Given the description of an element on the screen output the (x, y) to click on. 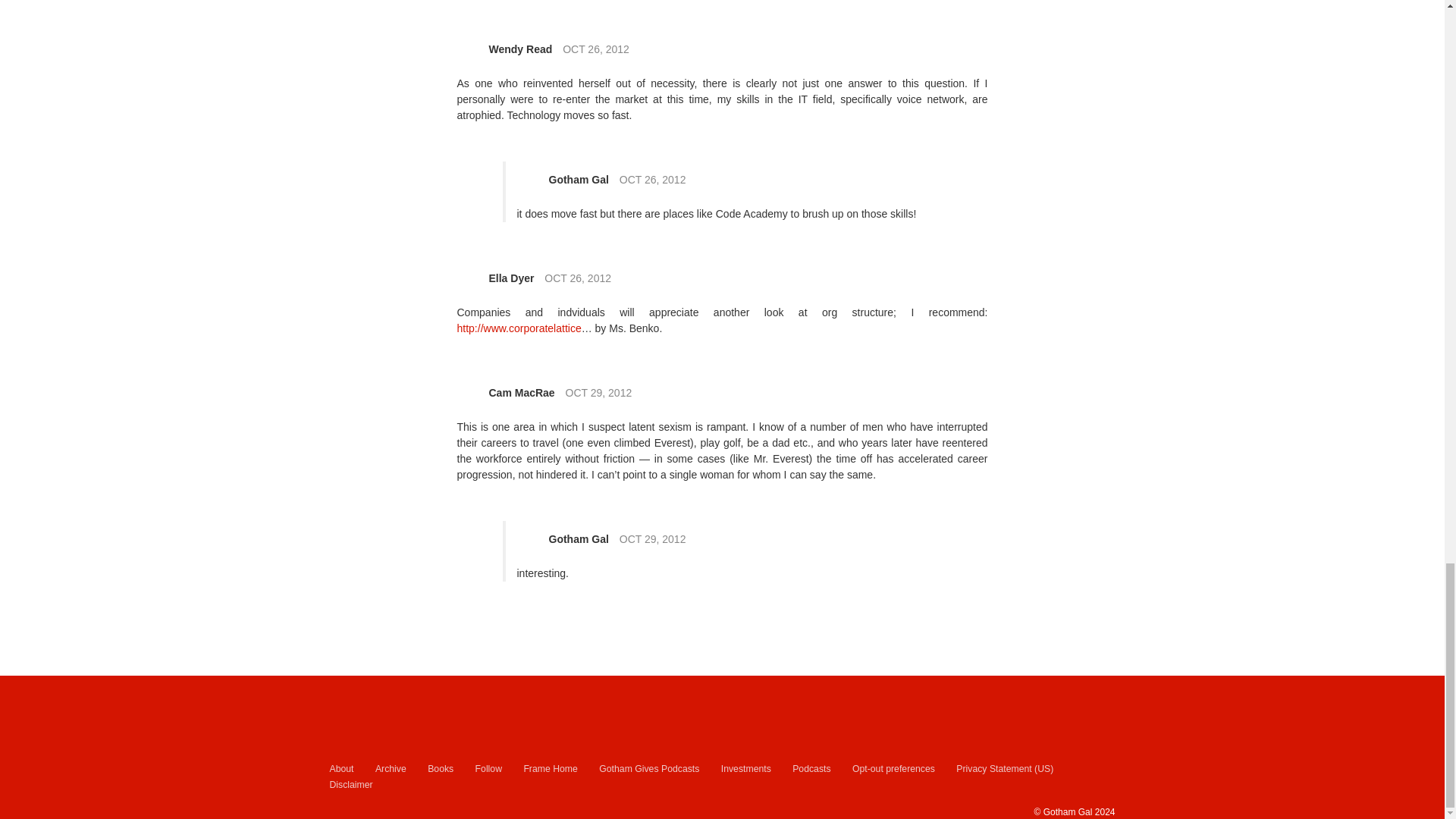
Opt-out preferences (892, 768)
Follow (489, 768)
Books (440, 768)
Disclaimer (350, 784)
About (341, 768)
Archive (390, 768)
Follow (489, 768)
Frame Home (549, 768)
Investments (745, 768)
About (341, 768)
